Given the description of an element on the screen output the (x, y) to click on. 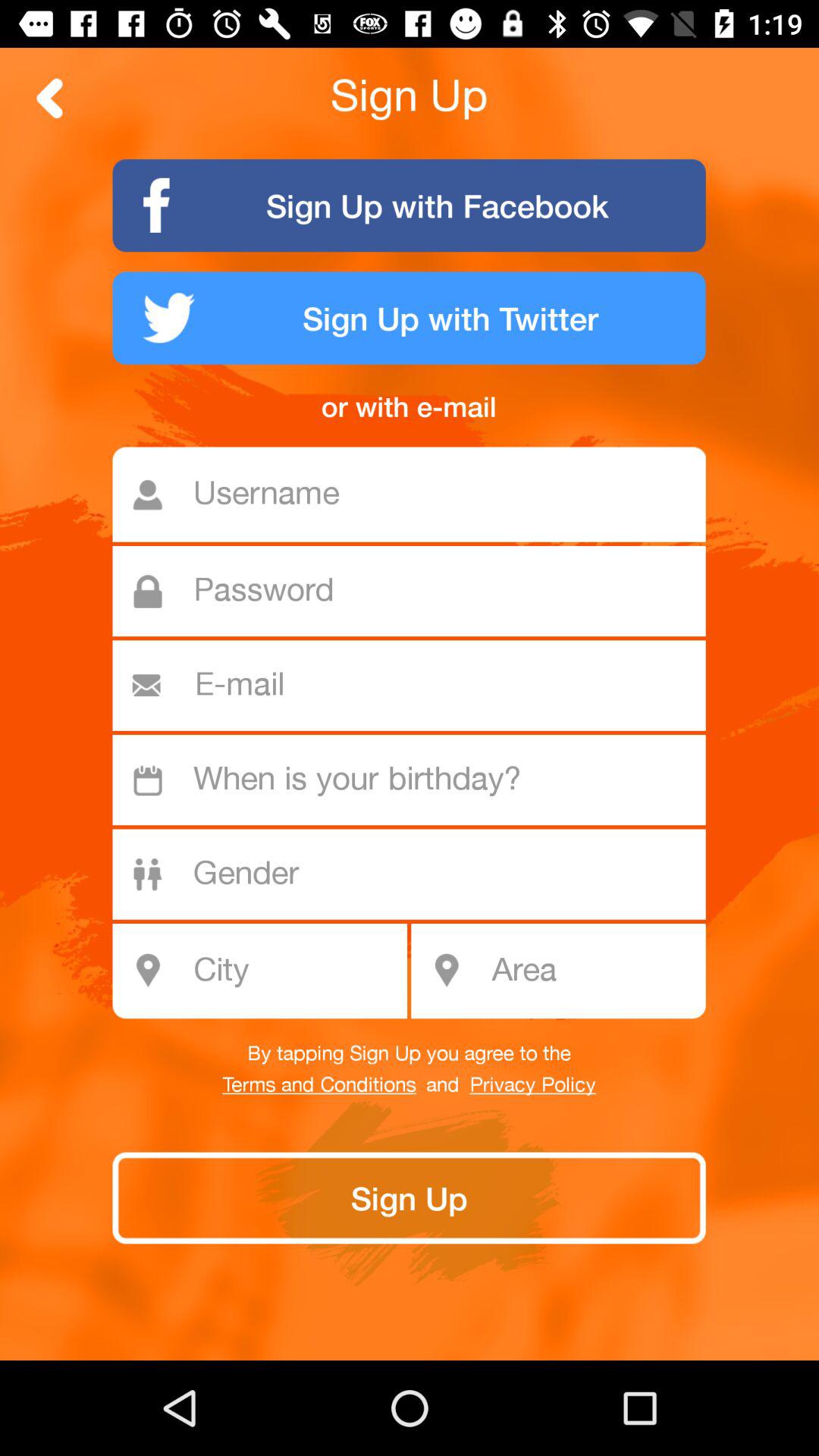
choose item below the or with e item (417, 494)
